Given the description of an element on the screen output the (x, y) to click on. 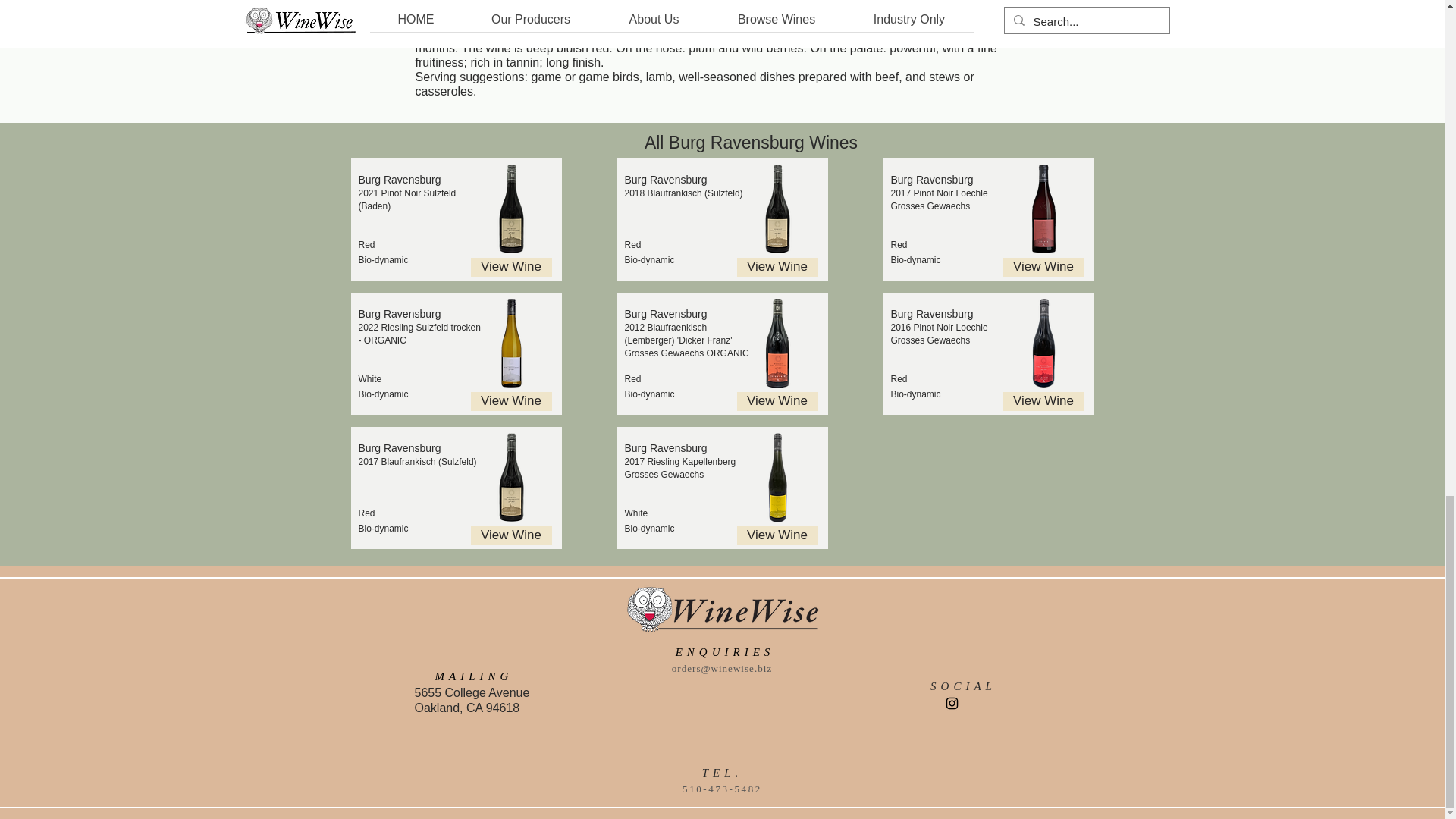
View Wine (510, 401)
View Wine (1043, 401)
View Wine (510, 535)
GBR-PN18.png (510, 208)
GBR-PNL16.png (1042, 343)
View Wine (777, 401)
View Wine (510, 266)
View Wine (777, 266)
GBR-BFS17.png (777, 208)
GBR-BDF12.png (777, 343)
